Given the description of an element on the screen output the (x, y) to click on. 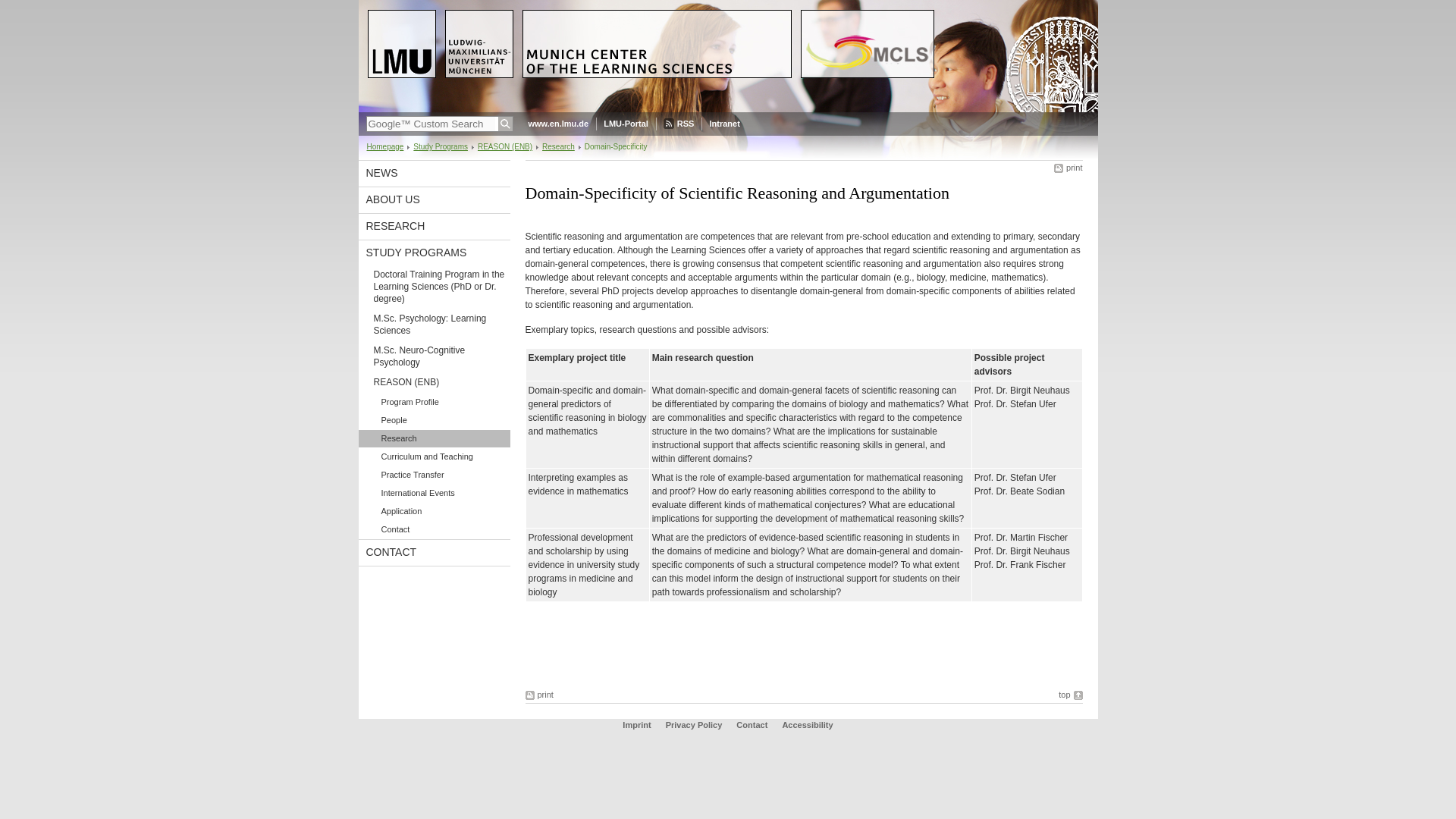
Homepage (385, 146)
Munich Center of the Learning Sciences (727, 109)
Contact (751, 724)
www.en.lmu.de (557, 123)
top (1069, 695)
print (538, 695)
Program Profile (433, 402)
RSS (678, 123)
Research (433, 438)
Search (504, 124)
Practice Transfer (433, 475)
RESEARCH (433, 226)
Imprint (636, 724)
Munich Center of the Learning Sciences (727, 56)
Contact (751, 724)
